Given the description of an element on the screen output the (x, y) to click on. 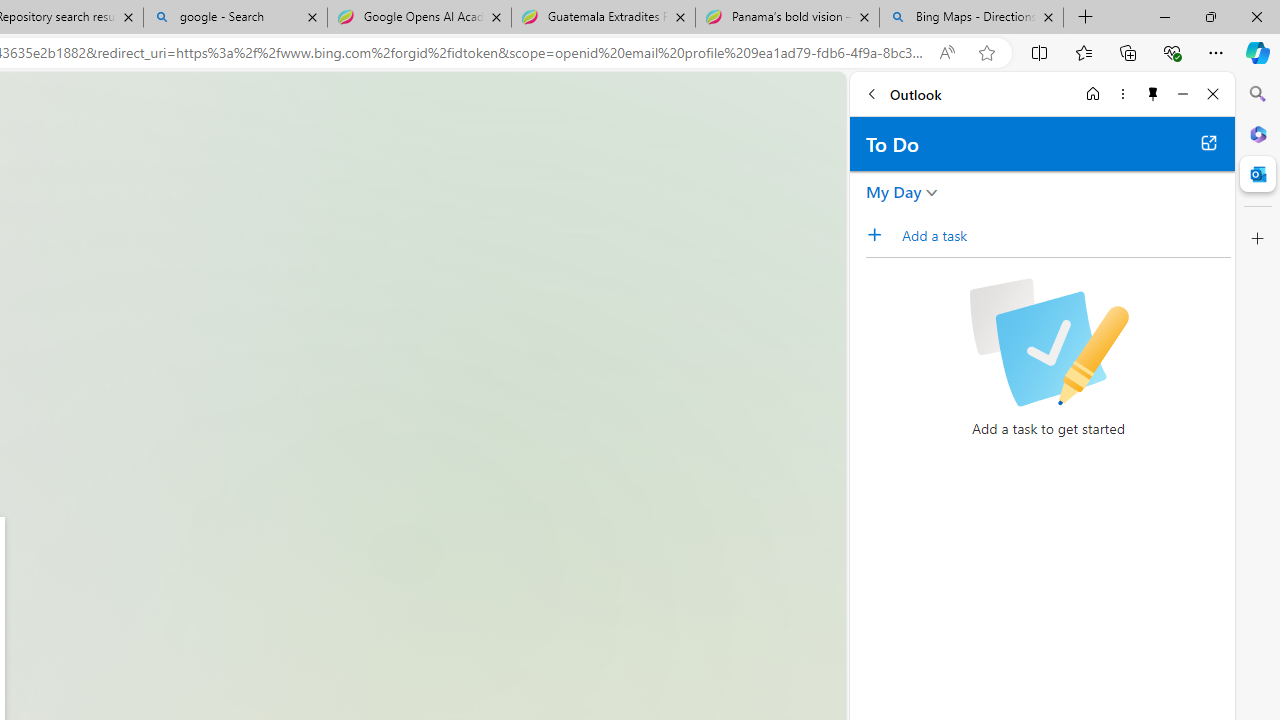
Open in new tab (1208, 142)
